Given the description of an element on the screen output the (x, y) to click on. 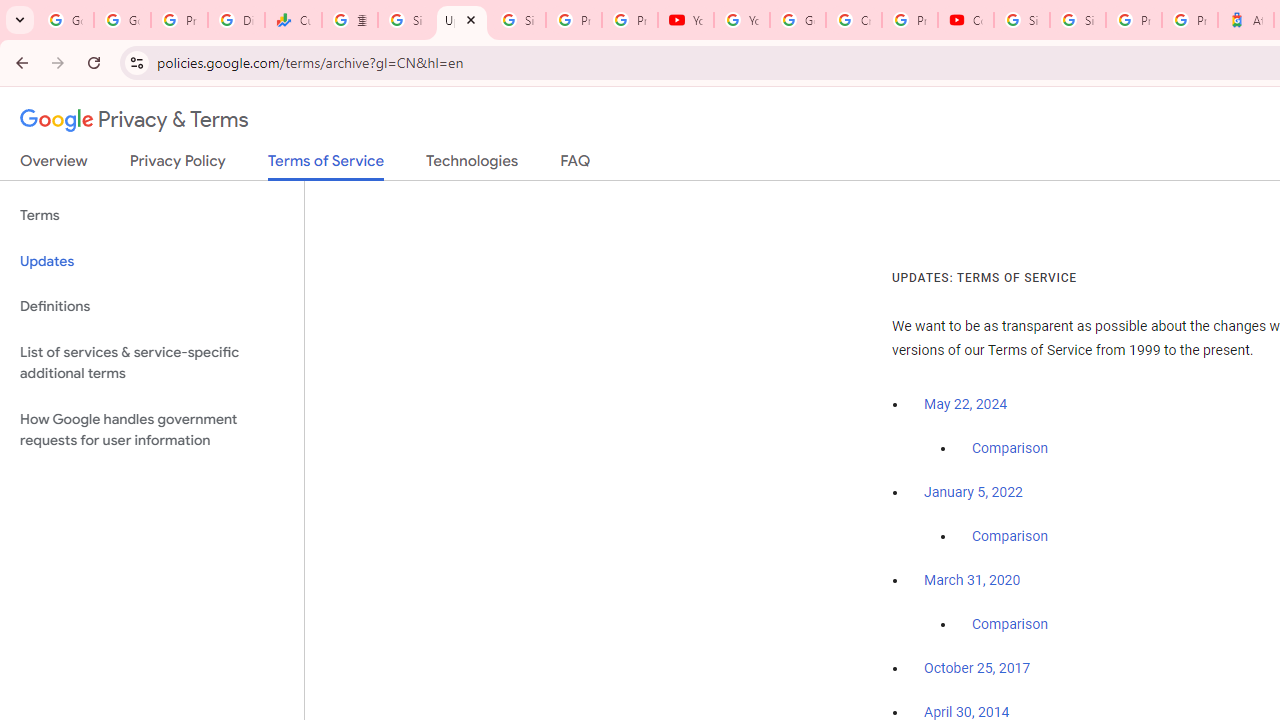
List of services & service-specific additional terms (152, 362)
YouTube (742, 20)
March 31, 2020 (972, 580)
Currencies - Google Finance (293, 20)
October 25, 2017 (977, 669)
Content Creator Programs & Opportunities - YouTube Creators (966, 20)
Privacy Checkup (629, 20)
